Given the description of an element on the screen output the (x, y) to click on. 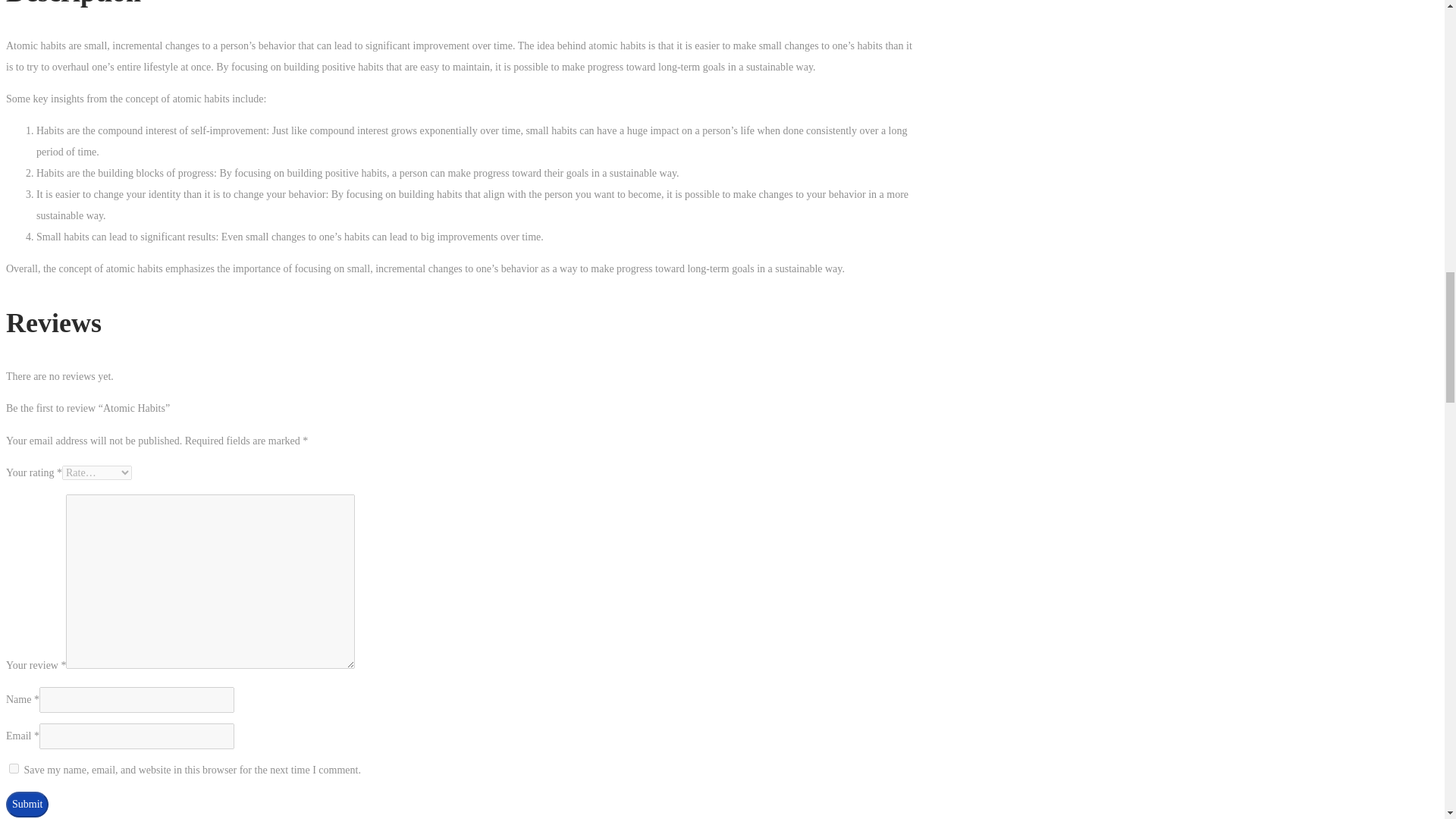
yes (13, 768)
Submit (26, 804)
Submit (26, 804)
